Given the description of an element on the screen output the (x, y) to click on. 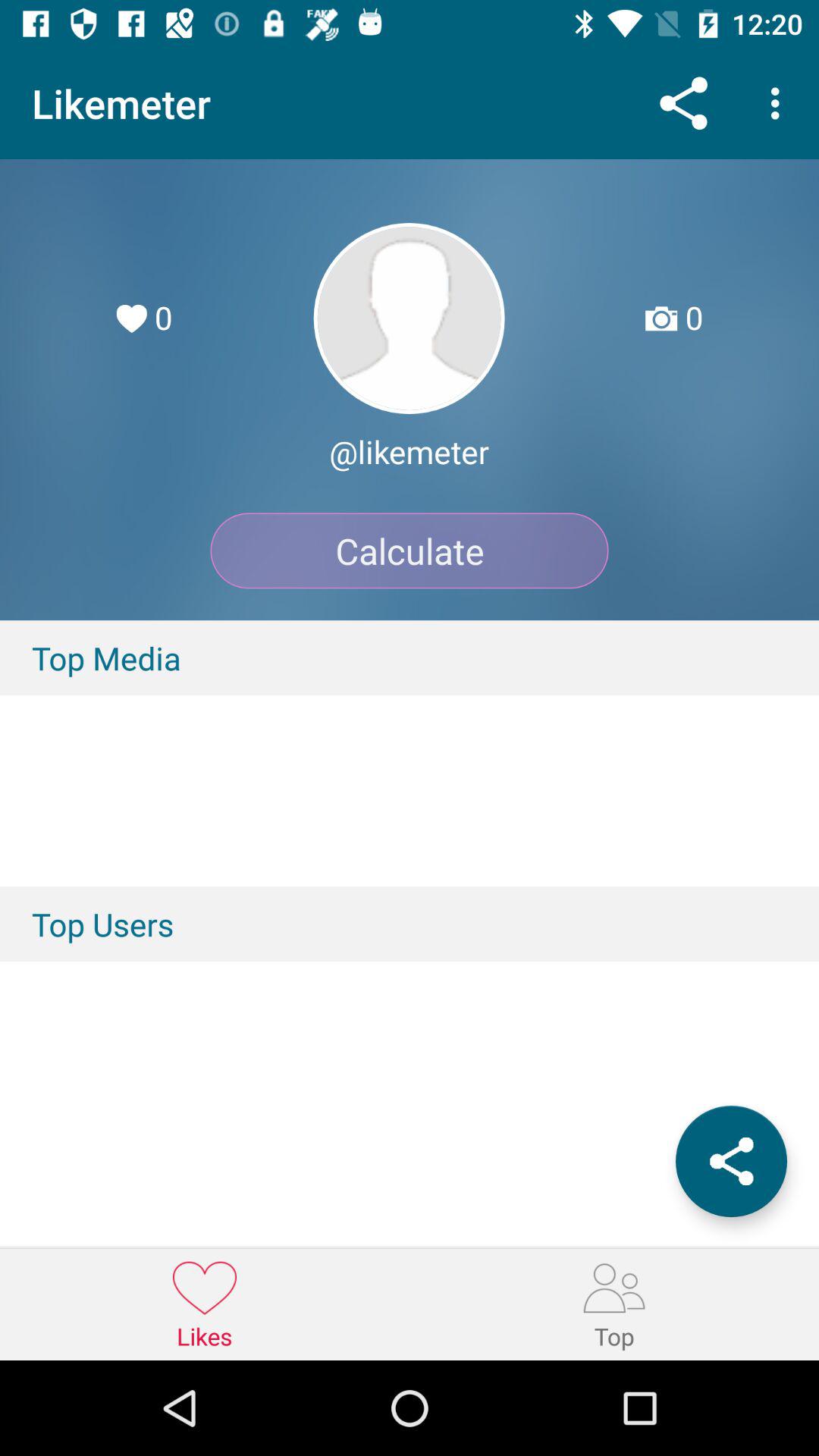
turn off calculate icon (409, 550)
